Given the description of an element on the screen output the (x, y) to click on. 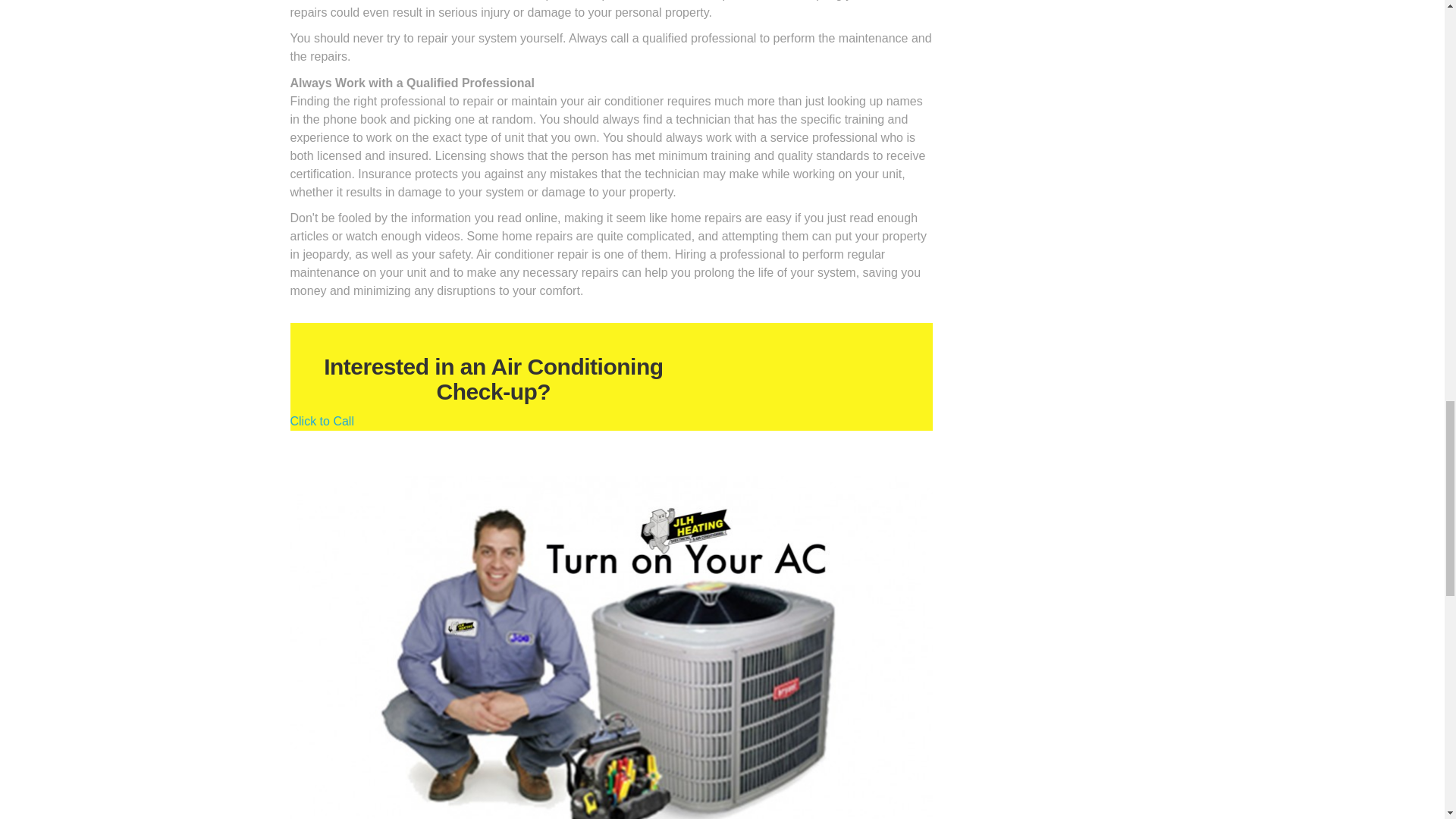
Click to Call (321, 420)
